Given the description of an element on the screen output the (x, y) to click on. 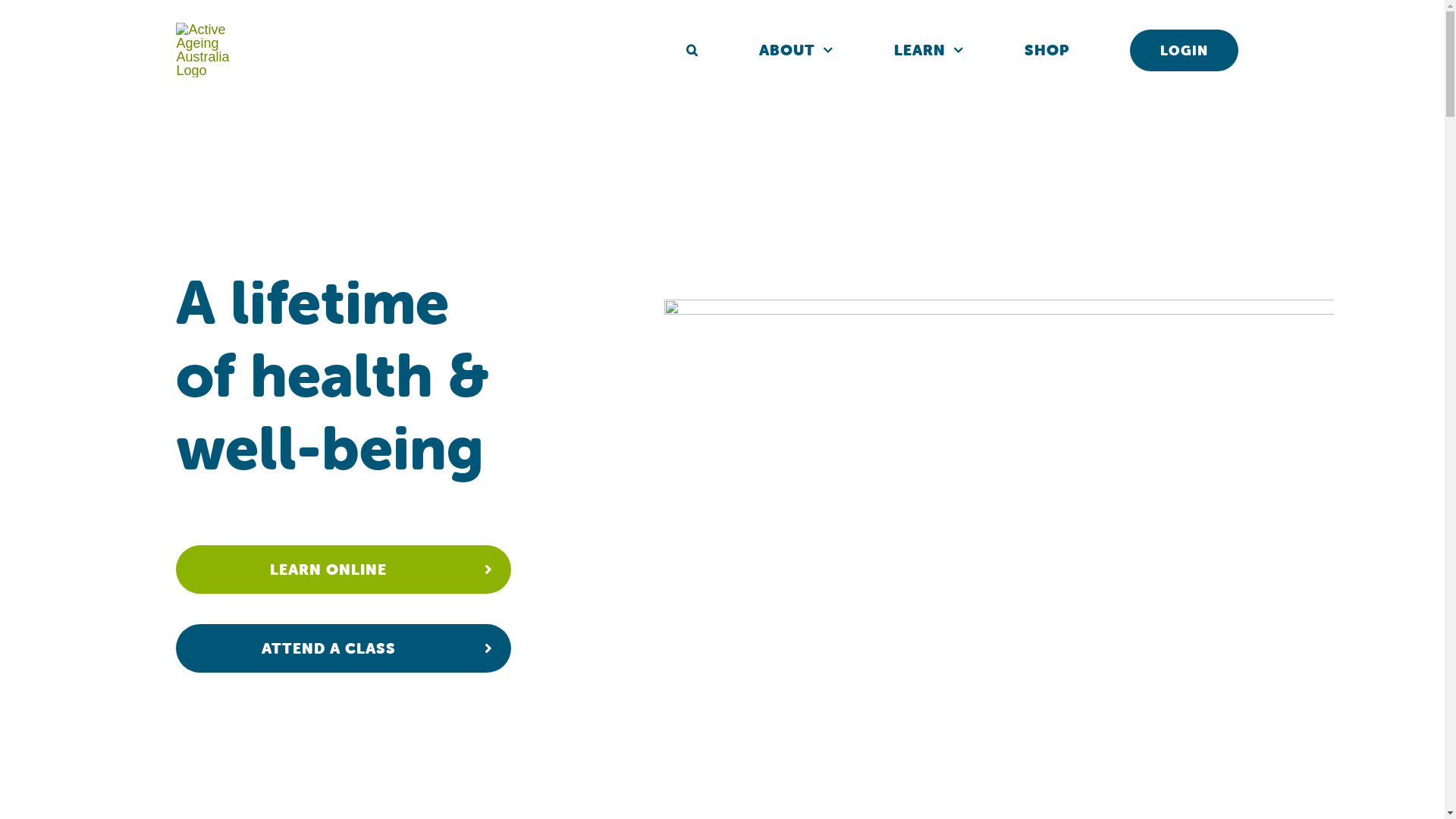
Search Element type: hover (692, 49)
ABOUT Element type: text (796, 49)
LEARN Element type: text (928, 49)
LOGIN Element type: text (1183, 49)
LEARN ONLINE Element type: text (343, 569)
SHOP Element type: text (1046, 49)
ATTEND A CLASS Element type: text (343, 648)
